Given the description of an element on the screen output the (x, y) to click on. 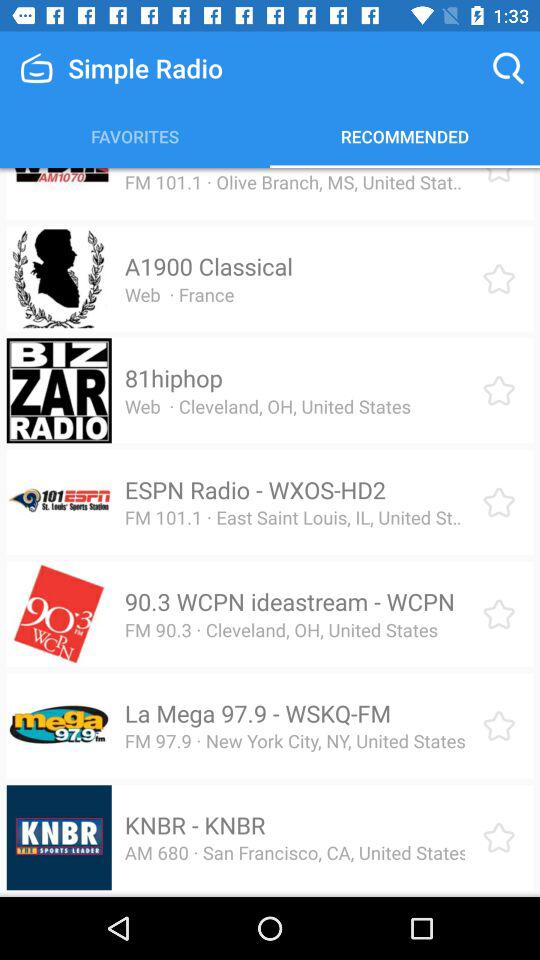
choose the knbr - knbr icon (194, 825)
